Given the description of an element on the screen output the (x, y) to click on. 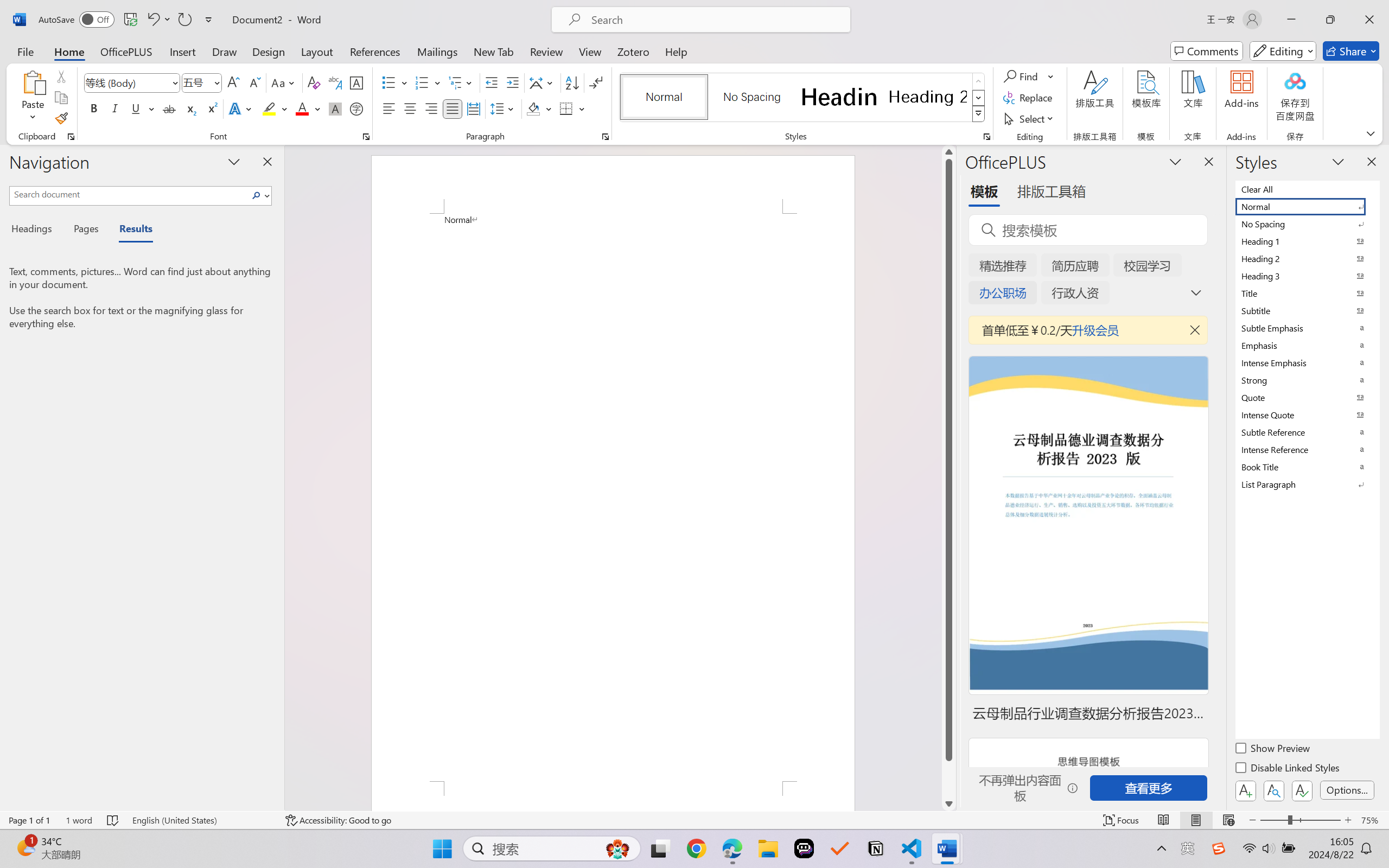
Heading 1 (839, 96)
Cut (60, 75)
View (589, 51)
Focus  (1121, 819)
Justify (452, 108)
Read Mode (1163, 819)
Undo Apply Quick Style (158, 19)
File Tab (24, 51)
Spelling and Grammar Check No Errors (113, 819)
Close (1369, 19)
Decrease Indent (491, 82)
New Tab (493, 51)
